Given the description of an element on the screen output the (x, y) to click on. 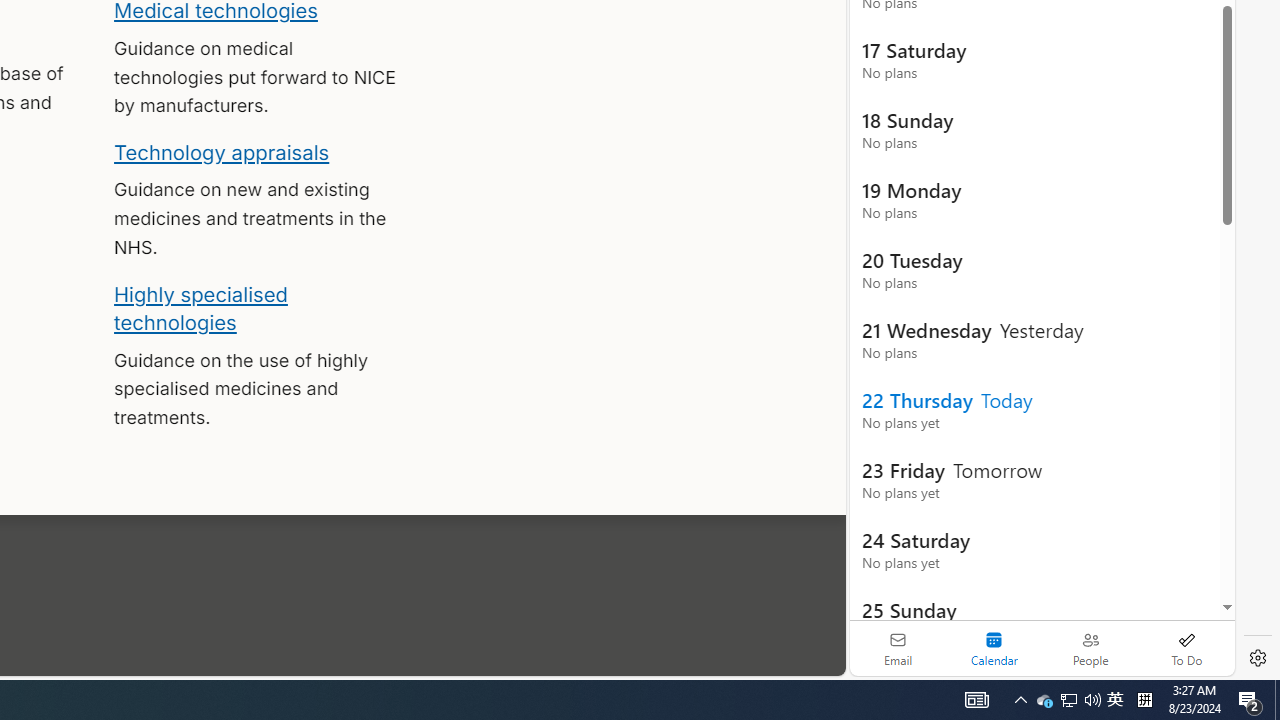
Technology appraisals (221, 152)
